Given the description of an element on the screen output the (x, y) to click on. 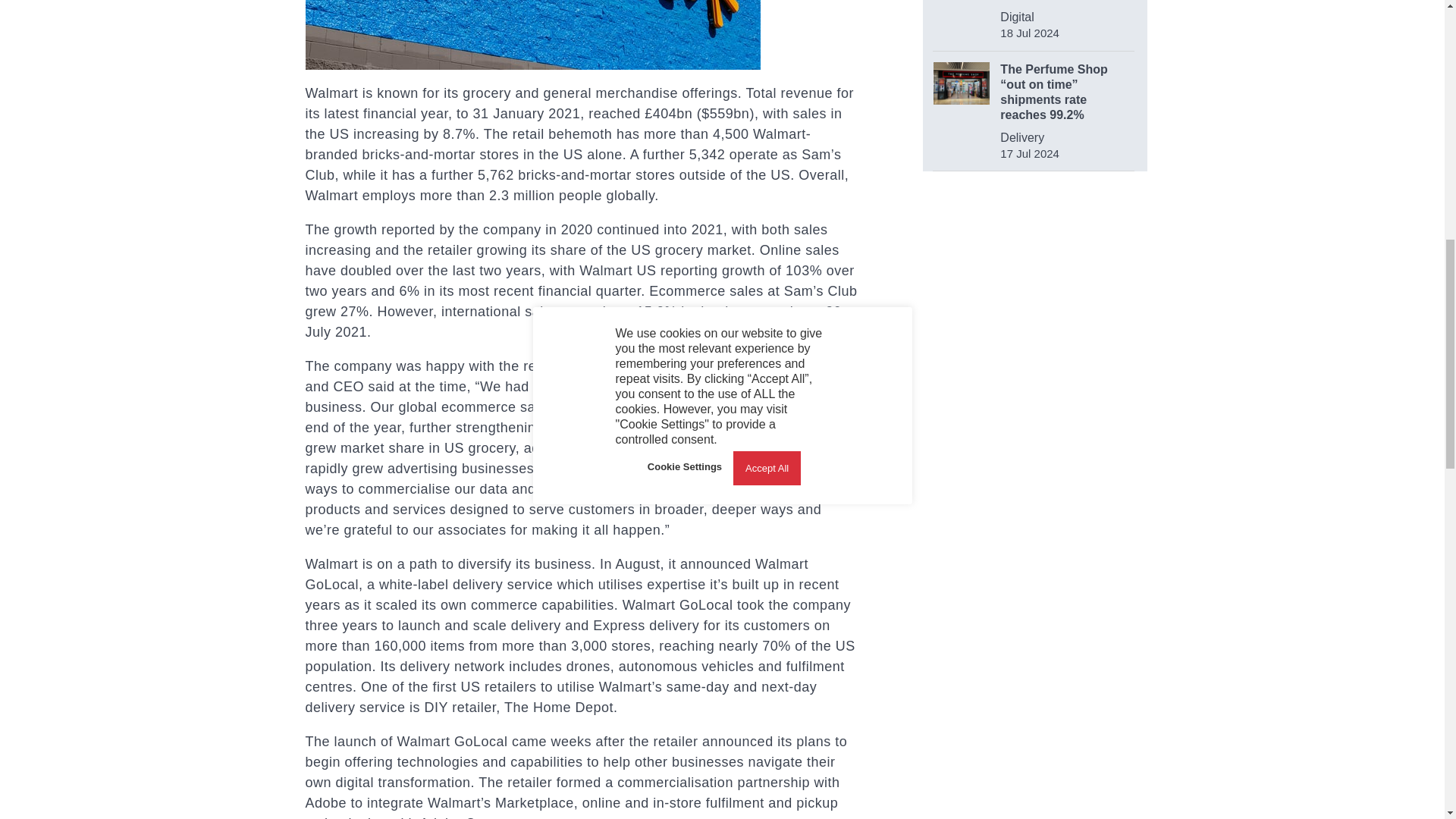
3rd party ad content (1035, 501)
3rd party ad content (1034, 289)
